Given the description of an element on the screen output the (x, y) to click on. 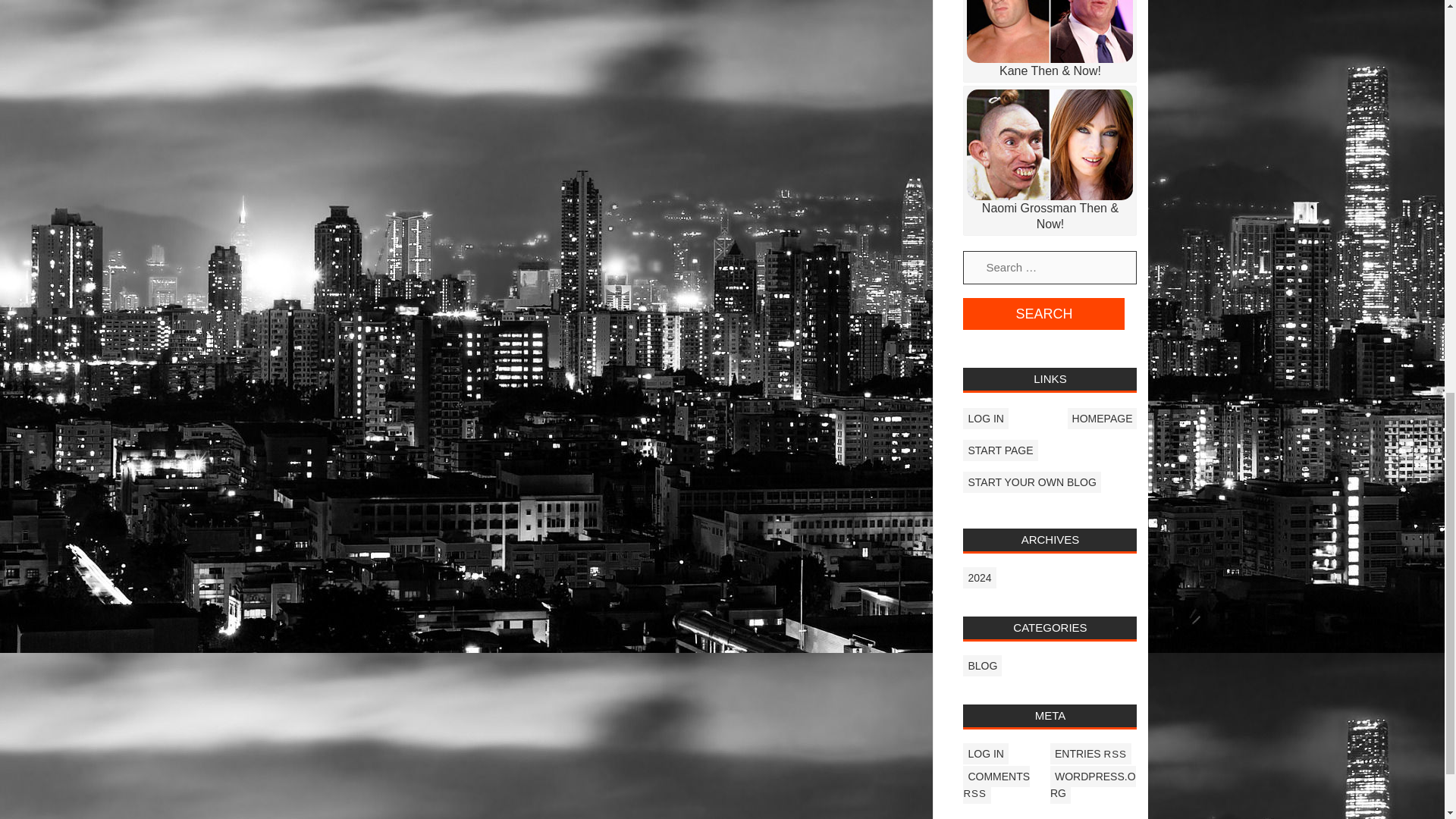
Really Simple Syndication (1114, 754)
2024 (978, 577)
Search (1043, 314)
ENTRIES RSS (1090, 753)
LOG IN (984, 753)
Search (1043, 314)
BLOG (981, 665)
Search (1043, 314)
START YOUR OWN BLOG (1031, 482)
